Given the description of an element on the screen output the (x, y) to click on. 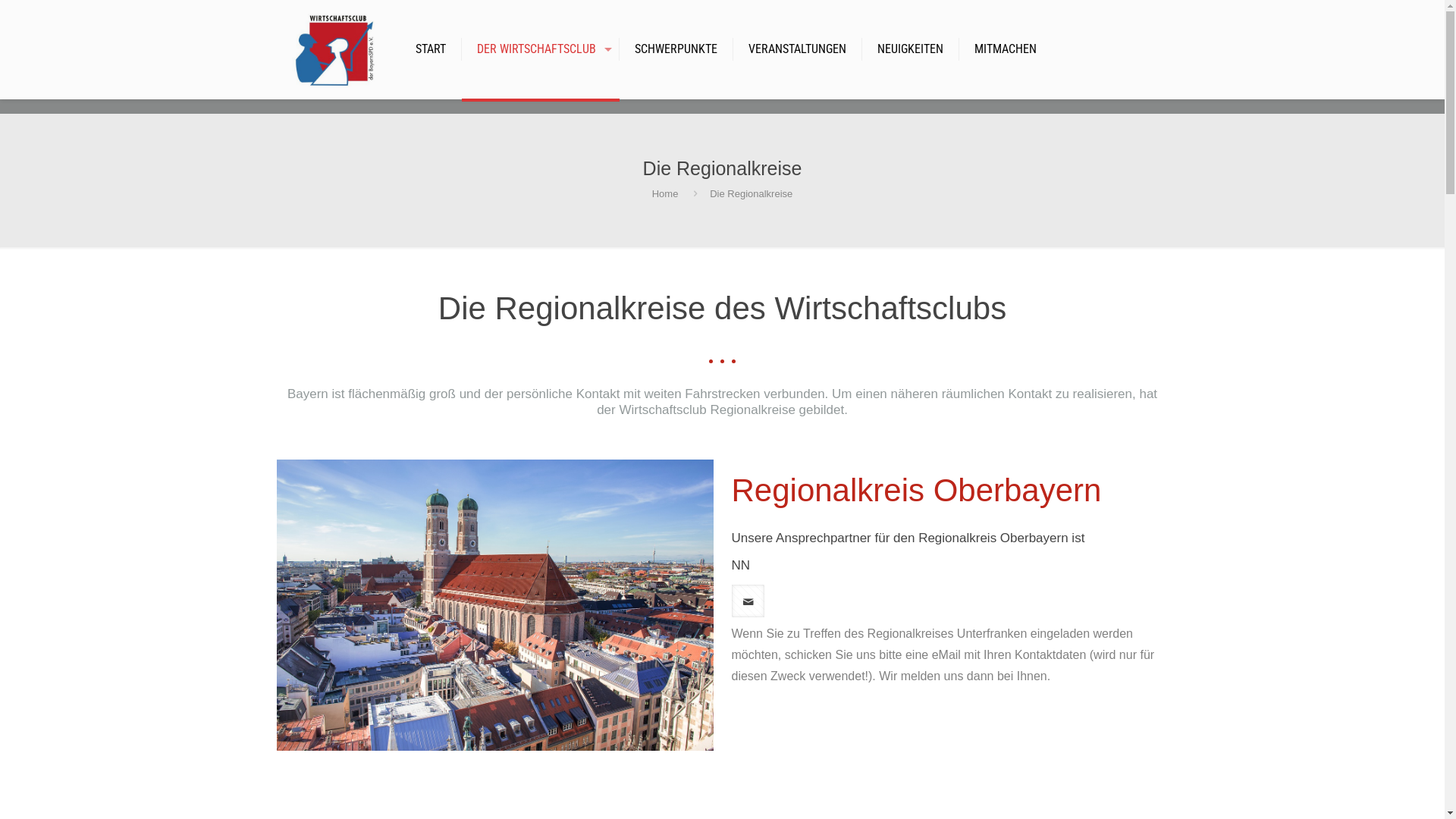
VERANSTALTUNGEN Element type: text (797, 49)
Wirtschaftsclub der BayernSPD e.V. Element type: hover (334, 49)
DER WIRTSCHAFTSCLUB Element type: text (540, 49)
SCHWERPUNKTE Element type: text (676, 49)
Home Element type: text (665, 193)
START Element type: text (430, 49)
NEUIGKEITEN Element type: text (910, 49)
MITMACHEN Element type: text (1005, 49)
